Given the description of an element on the screen output the (x, y) to click on. 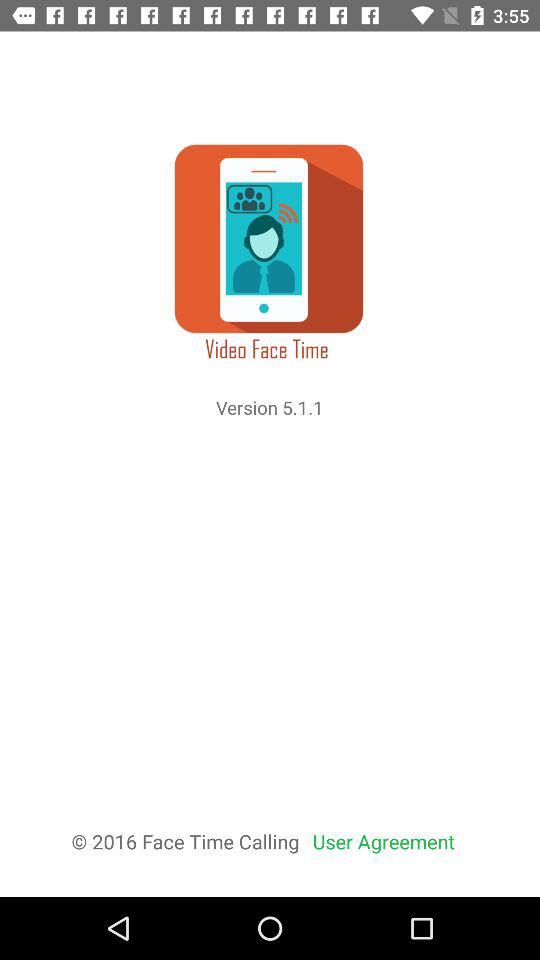
click item below the version 5 1 (383, 841)
